Given the description of an element on the screen output the (x, y) to click on. 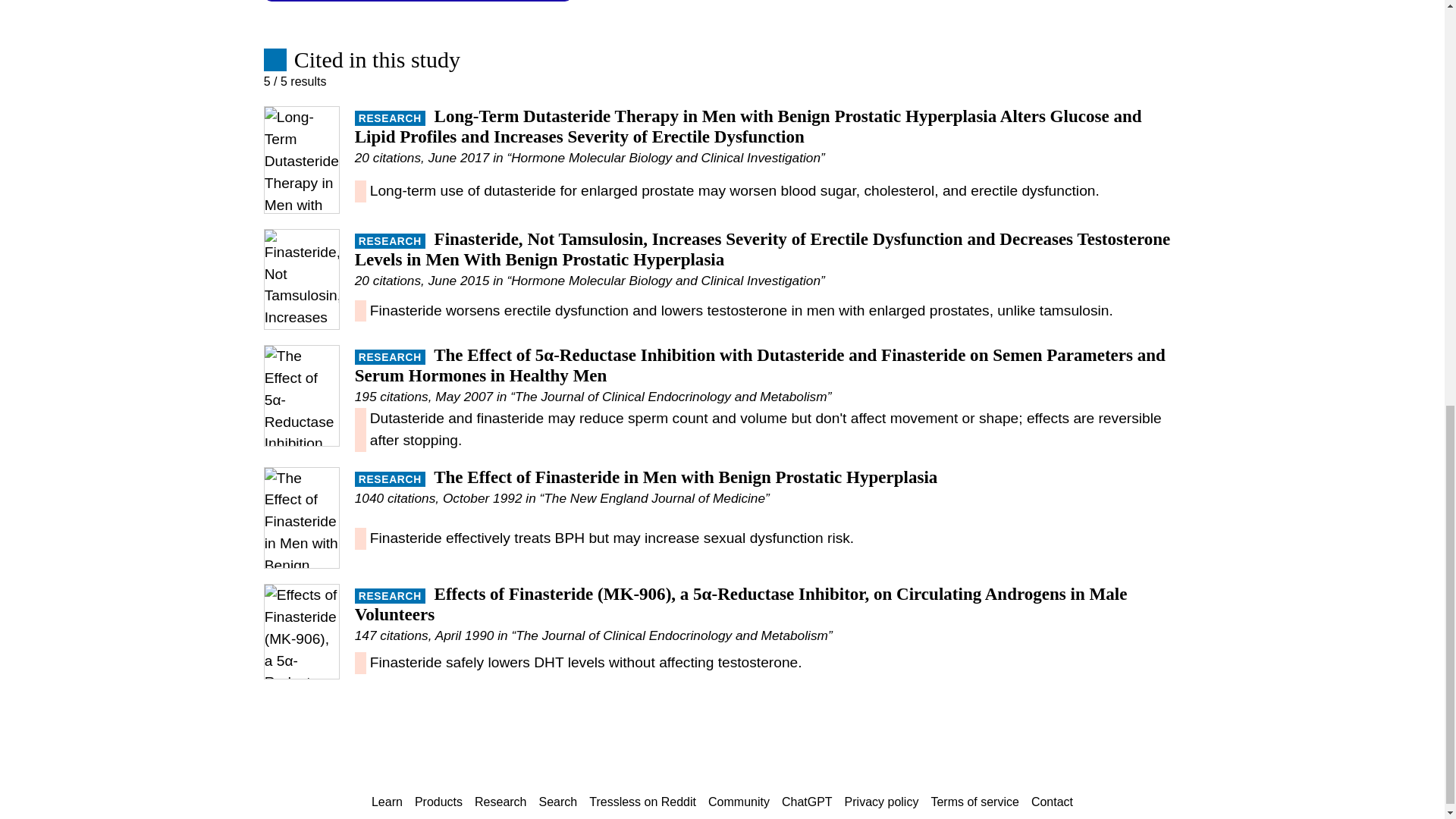
Products (438, 802)
Learn (387, 802)
Research (499, 802)
Community (738, 802)
ChatGPT (806, 802)
Tressless on Reddit (642, 802)
Search (558, 802)
